Given the description of an element on the screen output the (x, y) to click on. 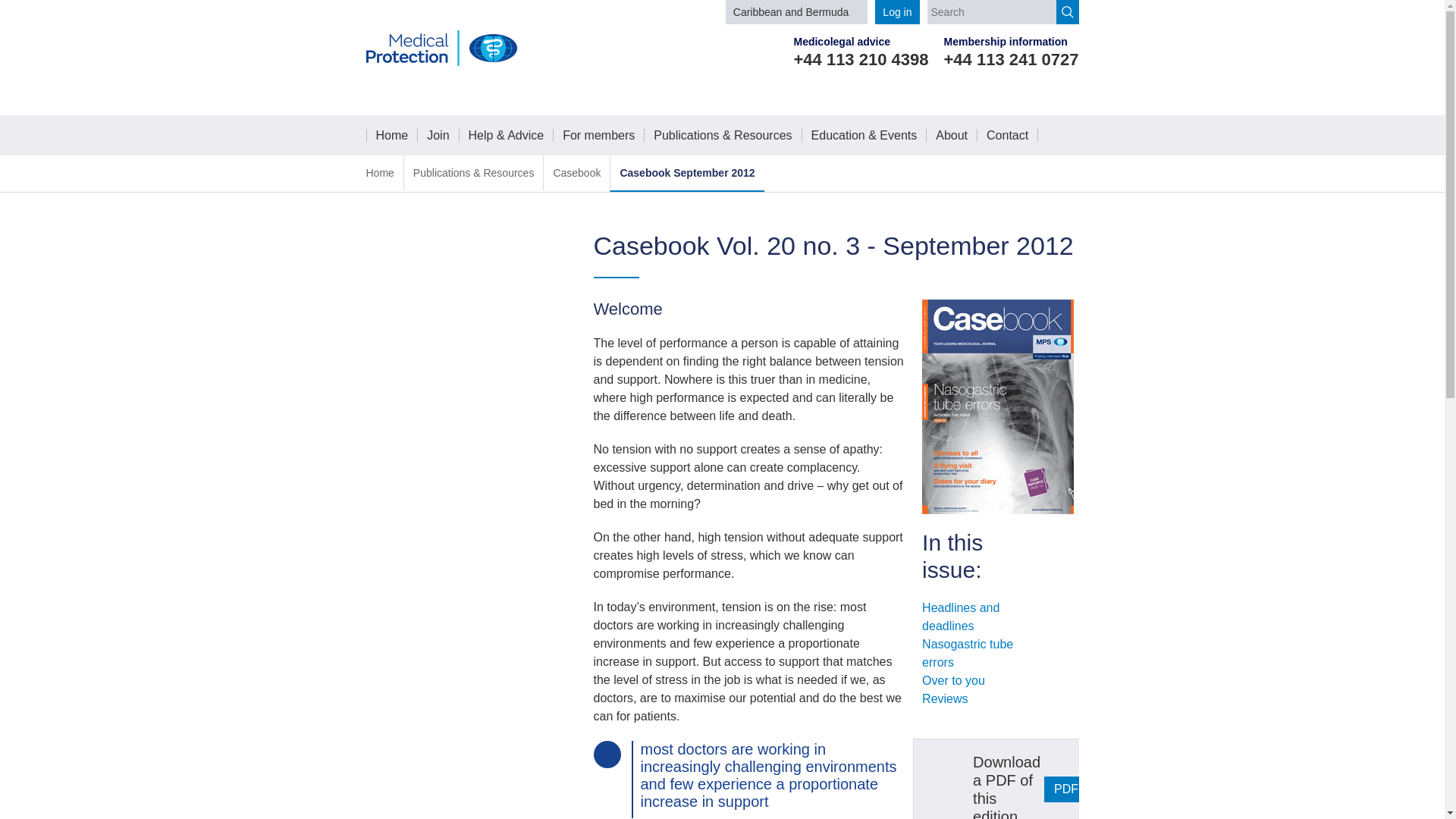
Home (379, 173)
Join (437, 135)
Home (391, 135)
Log in (896, 12)
For members (598, 135)
Casebook (576, 173)
Casebook September 2012  (687, 173)
Contact (1006, 135)
About (951, 135)
Caribbean and Bermuda (796, 12)
